Given the description of an element on the screen output the (x, y) to click on. 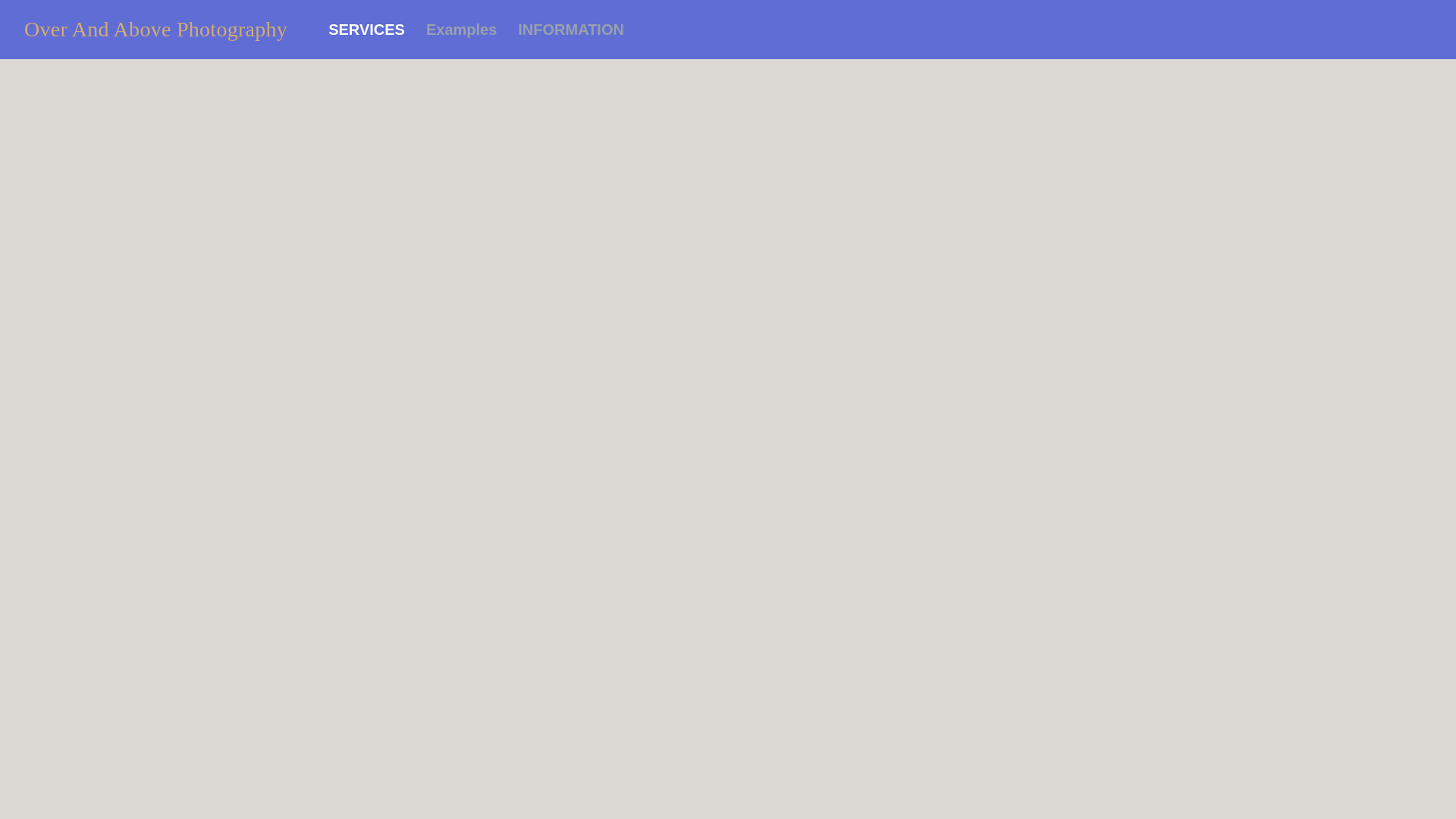
SERVICES (365, 29)
Examples (460, 29)
INFORMATION (570, 29)
Over And Above Photography (155, 29)
